Given the description of an element on the screen output the (x, y) to click on. 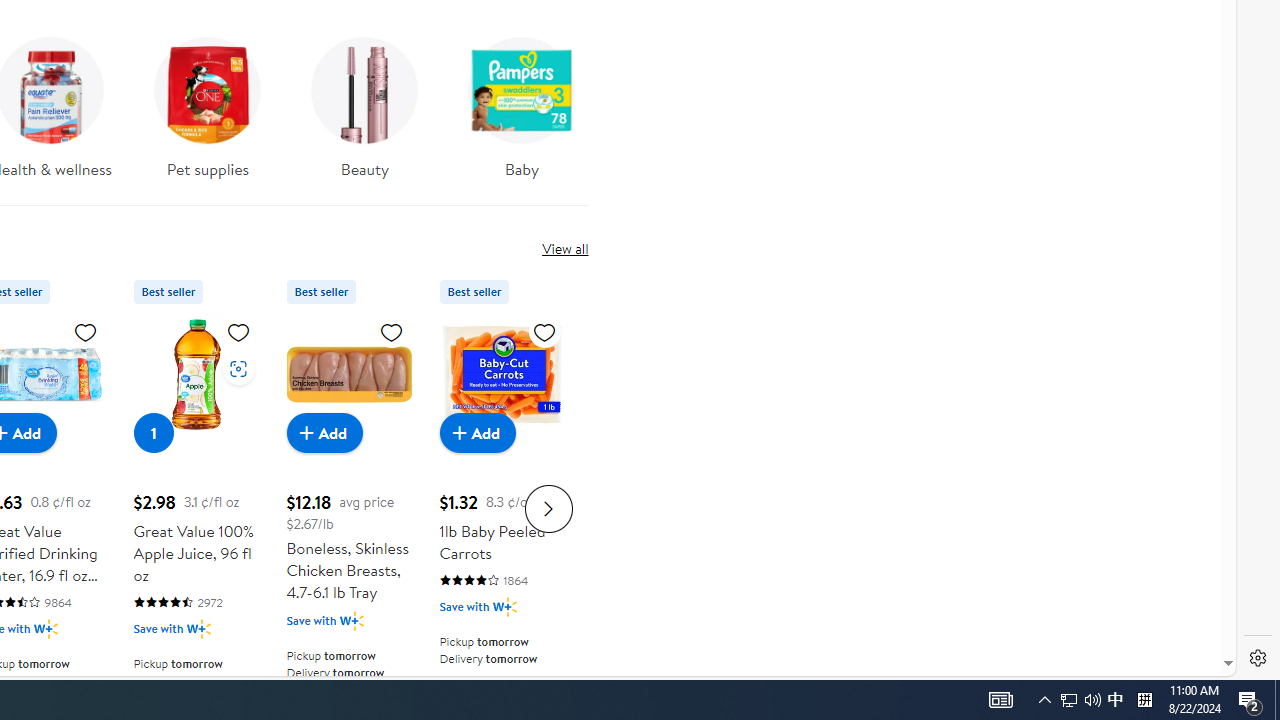
Baby (521, 114)
Add to cart - 1lb Baby Peeled Carrots (478, 431)
Sign in to add to Favorites list, 1lb Baby Peeled Carrots (543, 331)
